Given the description of an element on the screen output the (x, y) to click on. 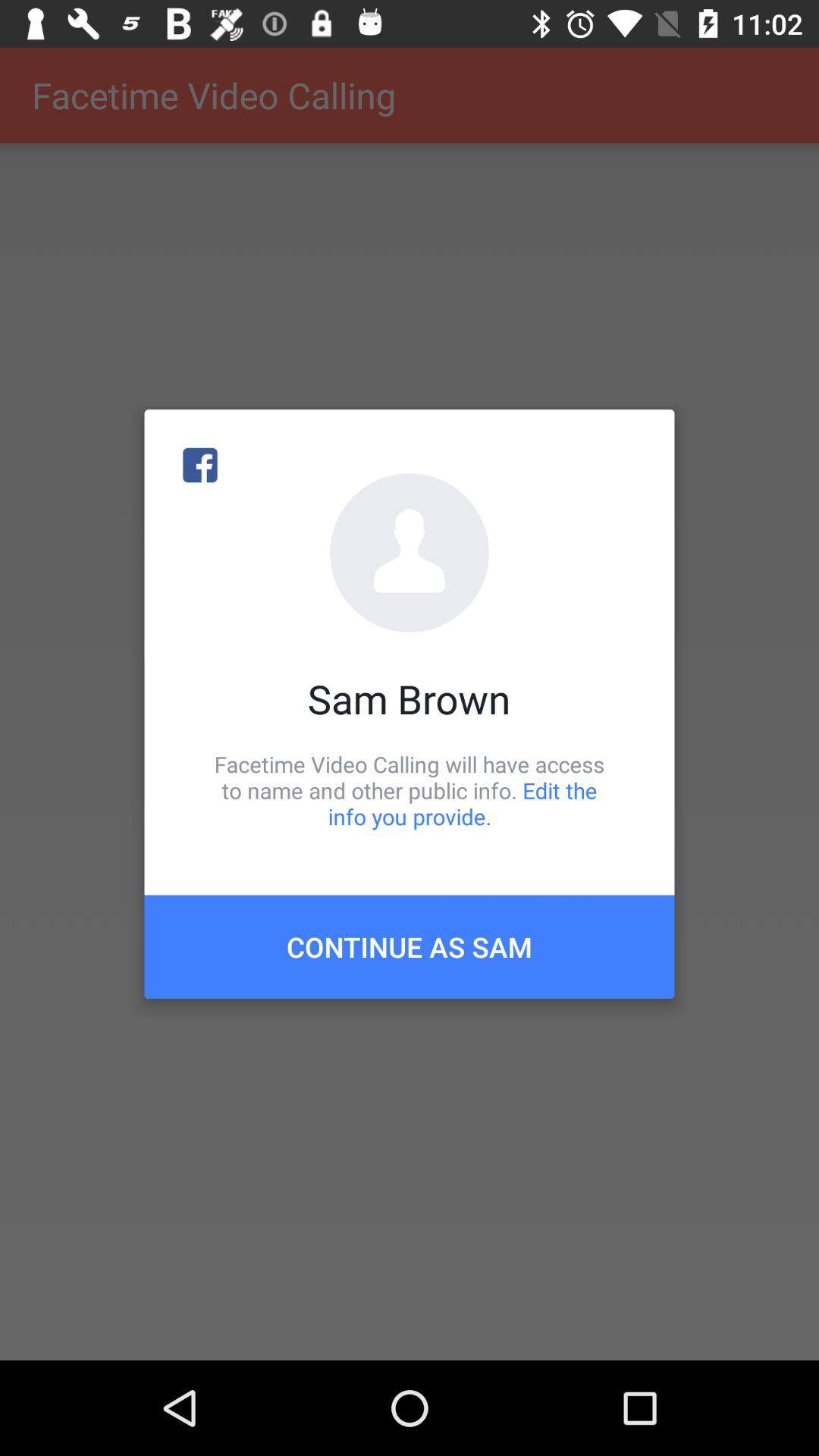
launch the continue as sam icon (409, 946)
